Given the description of an element on the screen output the (x, y) to click on. 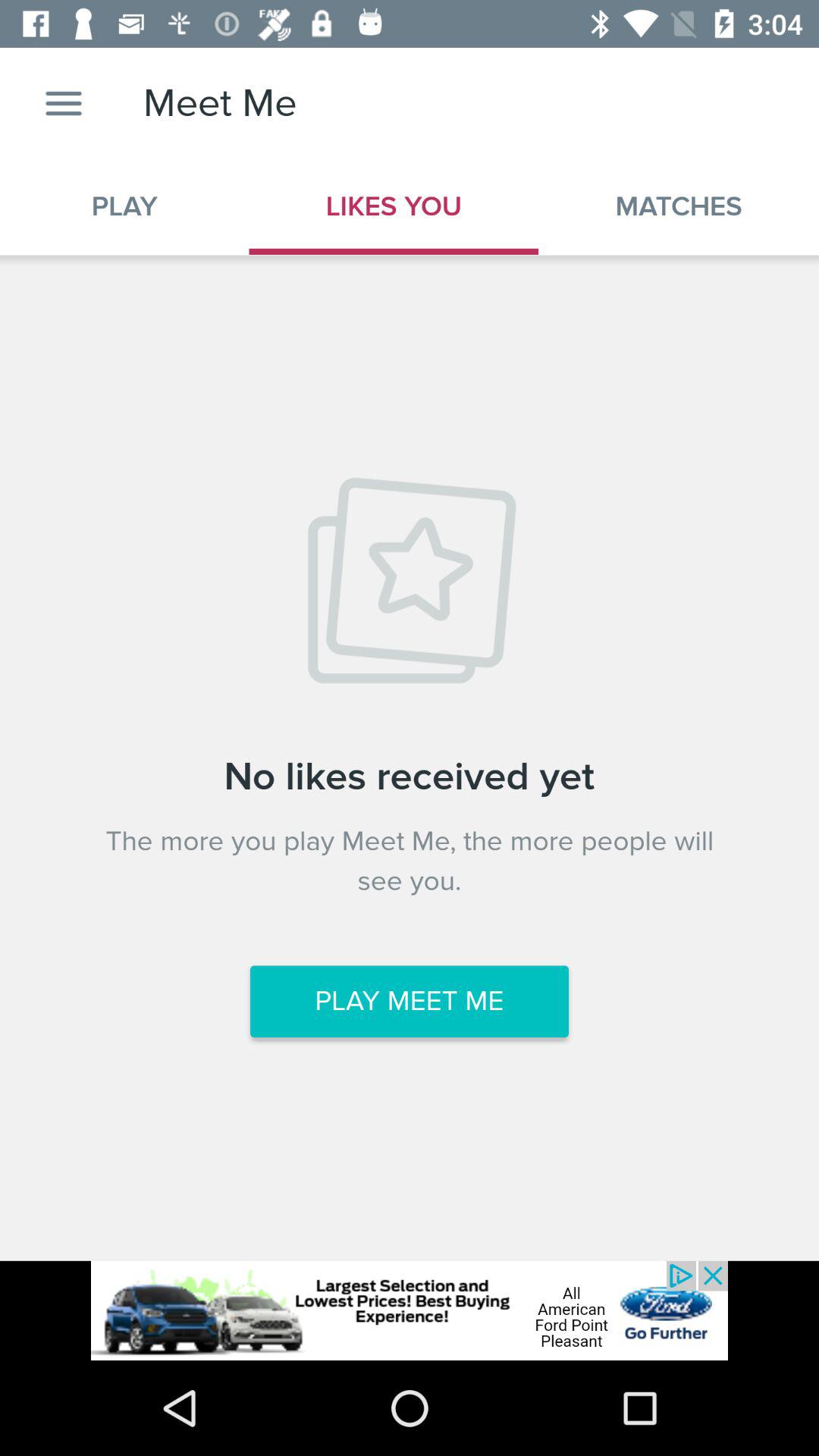
open advertisement (409, 1310)
